Given the description of an element on the screen output the (x, y) to click on. 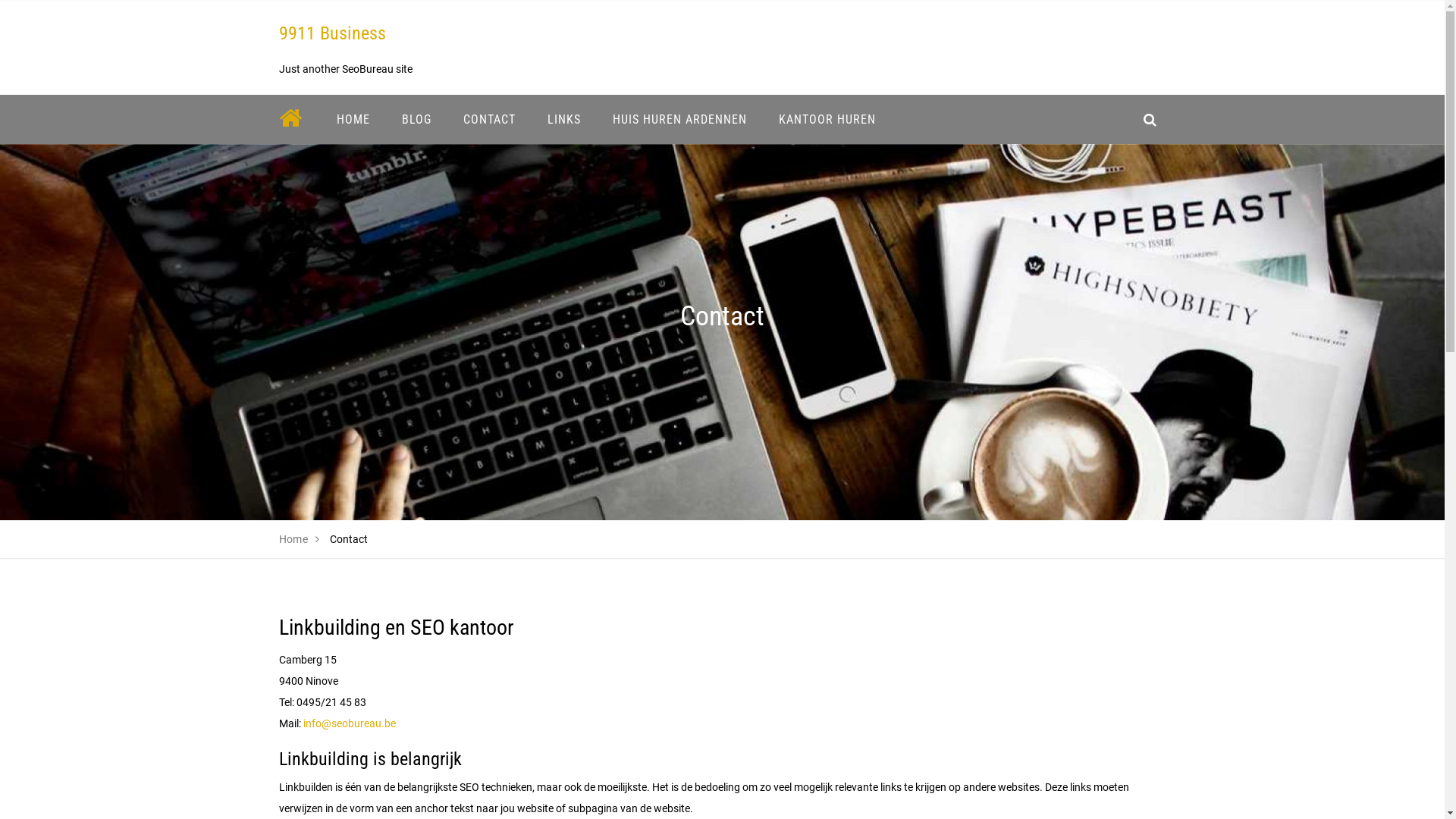
Home Element type: text (293, 539)
BLOG Element type: text (415, 119)
search_icon Element type: hover (1148, 119)
HUIS HUREN ARDENNEN Element type: text (679, 119)
info@seobureau.be Element type: text (349, 723)
9911 Business Element type: text (332, 32)
KANTOOR HUREN Element type: text (826, 119)
CONTACT Element type: text (489, 119)
HOME Element type: text (352, 119)
LINKS Element type: text (562, 119)
